Given the description of an element on the screen output the (x, y) to click on. 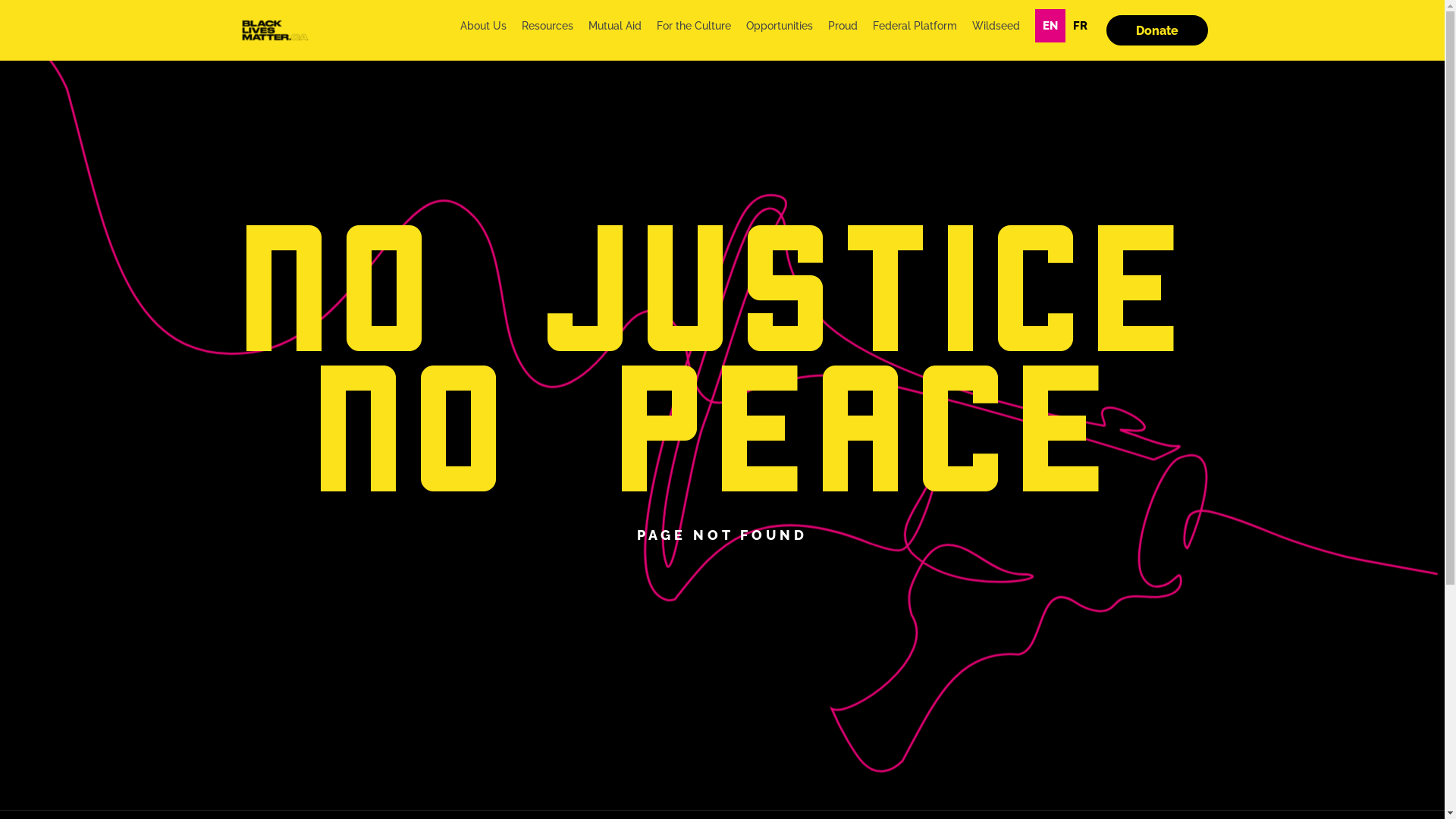
EN Element type: text (1049, 25)
FR Element type: text (1079, 25)
Donate Element type: text (1156, 30)
Resources Element type: text (546, 25)
Federal Platform Element type: text (914, 25)
Mutual Aid Element type: text (613, 25)
Opportunities Element type: text (778, 25)
About Us Element type: text (483, 25)
Proud Element type: text (841, 25)
For the Culture Element type: text (693, 25)
Wildseed Element type: text (994, 25)
